Given the description of an element on the screen output the (x, y) to click on. 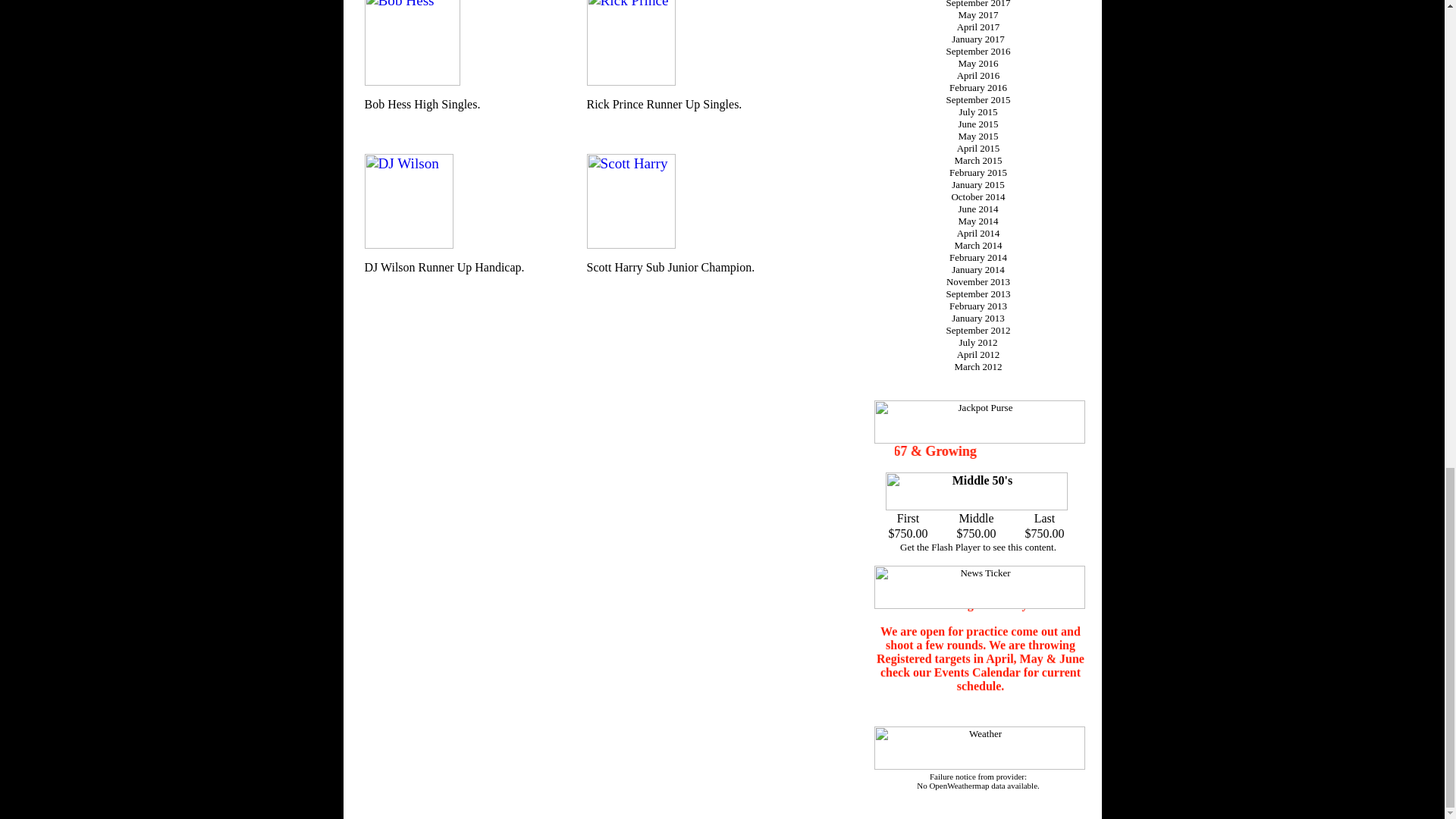
Weather (978, 747)
News Ticker (978, 587)
Jackpot Purse (978, 421)
